Given the description of an element on the screen output the (x, y) to click on. 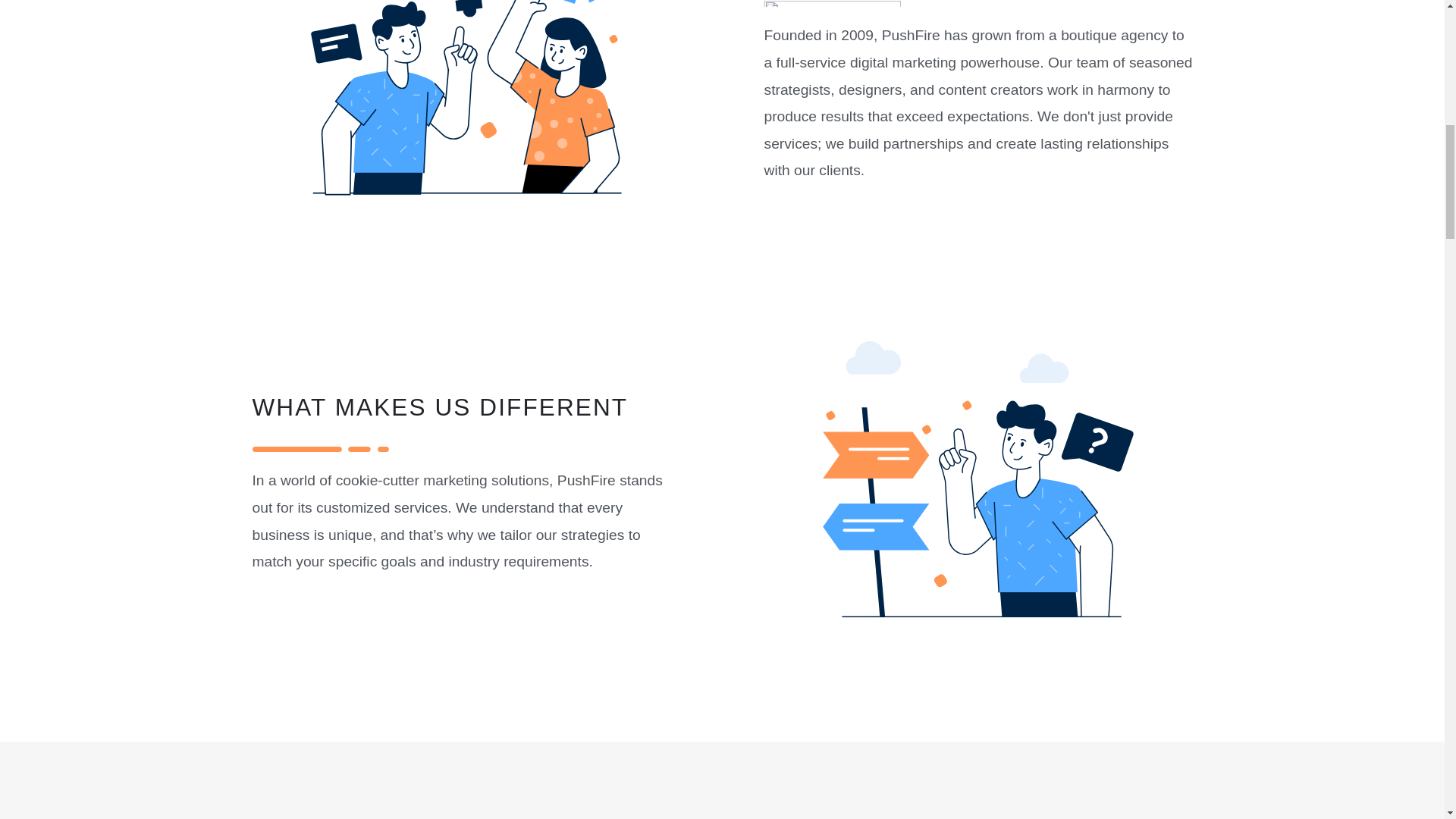
colleagues.svg (466, 127)
